Given the description of an element on the screen output the (x, y) to click on. 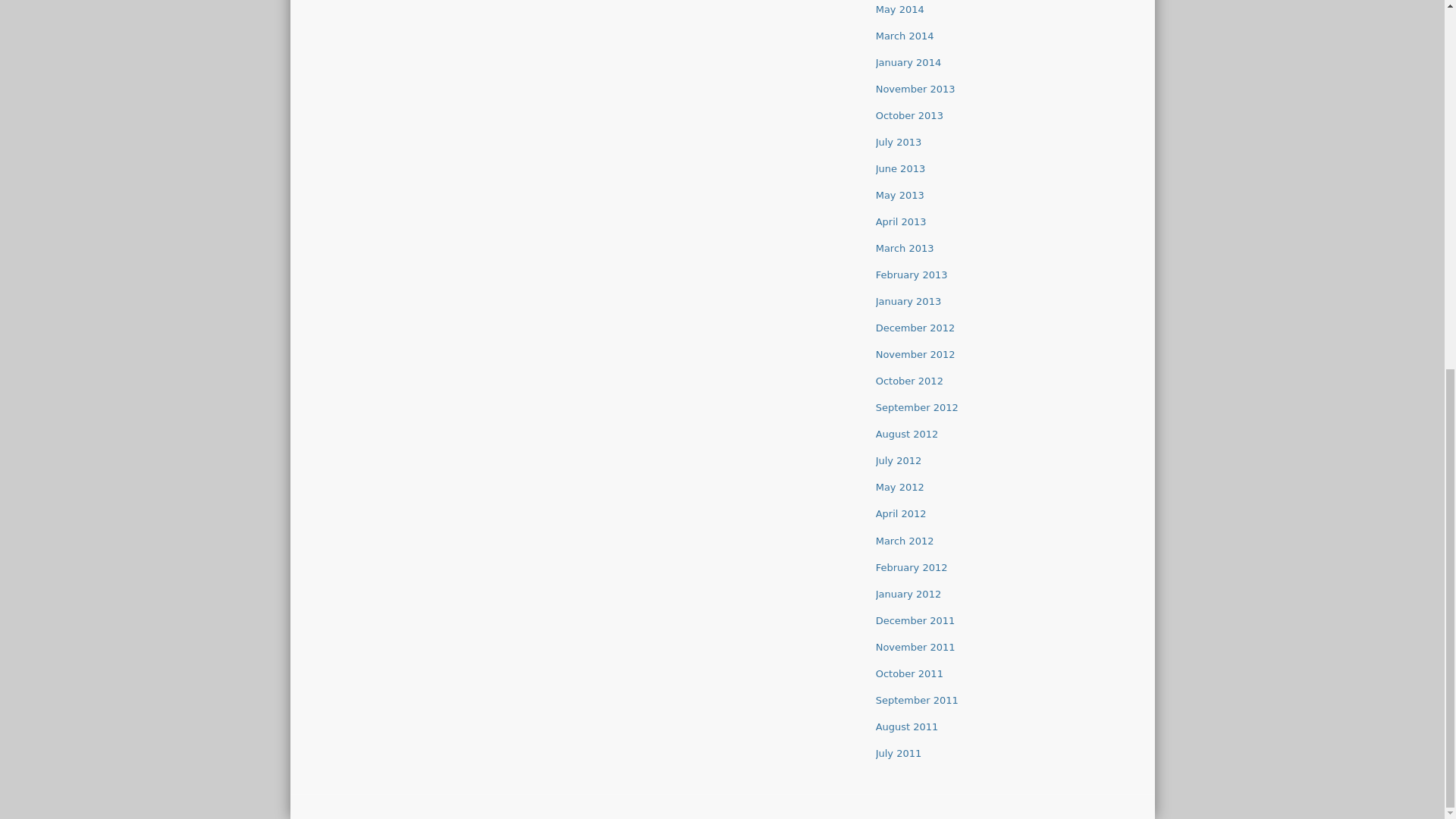
October 2013 (909, 115)
January 2014 (909, 61)
November 2013 (915, 89)
April 2013 (901, 221)
January 2013 (909, 301)
December 2012 (915, 327)
March 2013 (905, 247)
March 2014 (905, 35)
July 2013 (898, 142)
February 2013 (911, 274)
June 2013 (901, 168)
May 2014 (900, 9)
May 2013 (900, 194)
